Given the description of an element on the screen output the (x, y) to click on. 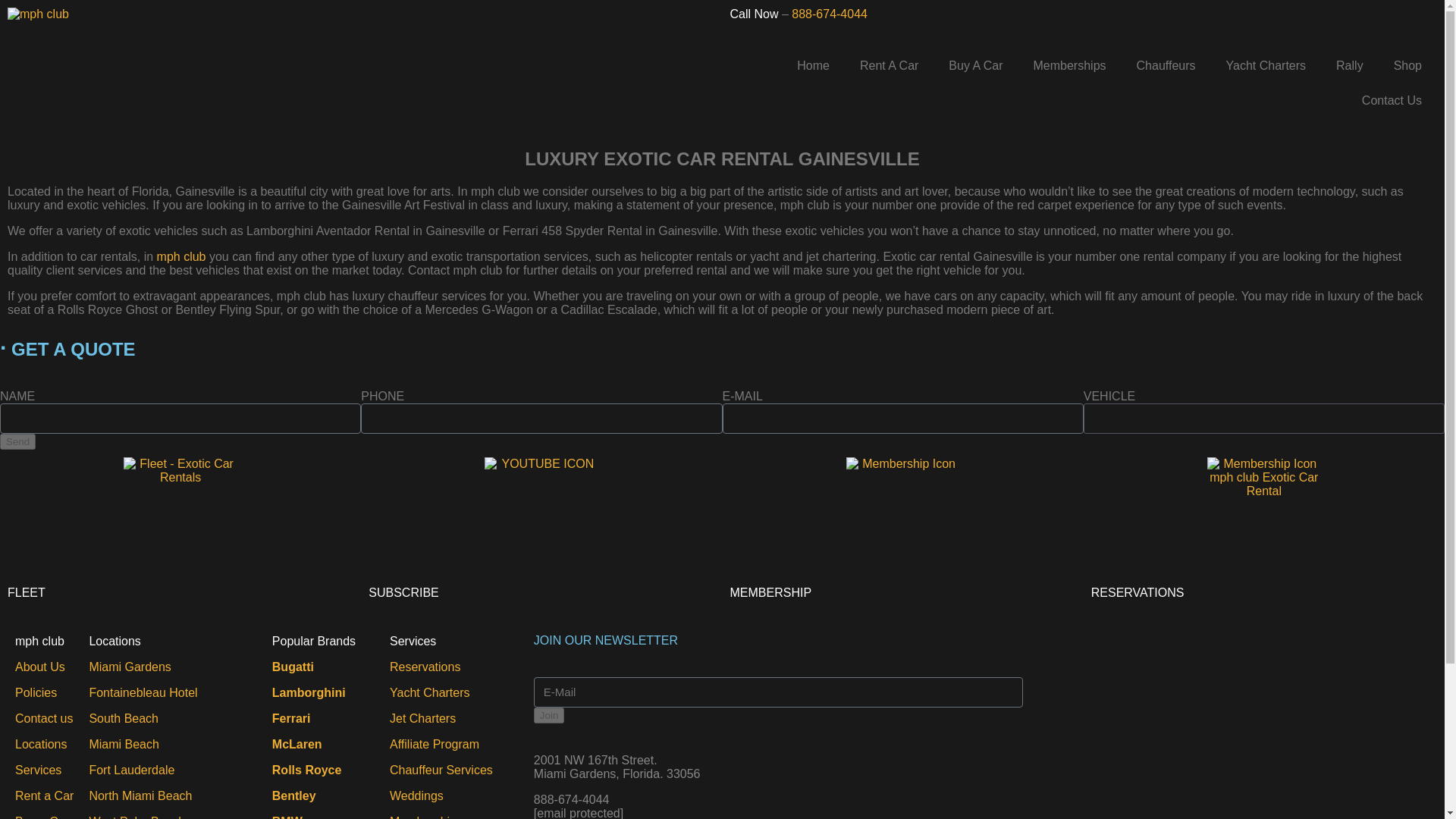
About Us (39, 666)
Chauffeurs (1166, 65)
Shop (1407, 65)
MEMBERSHIP (769, 592)
FLEET (26, 592)
SUBSCRIBE (403, 592)
Rent A Car (888, 65)
mph club (181, 256)
888-674-4044 (829, 13)
Contact us (43, 717)
Yacht Charters (1266, 65)
Contact Us (1391, 100)
Buy A Car (975, 65)
Buy a Car (41, 816)
Locations (40, 744)
